Given the description of an element on the screen output the (x, y) to click on. 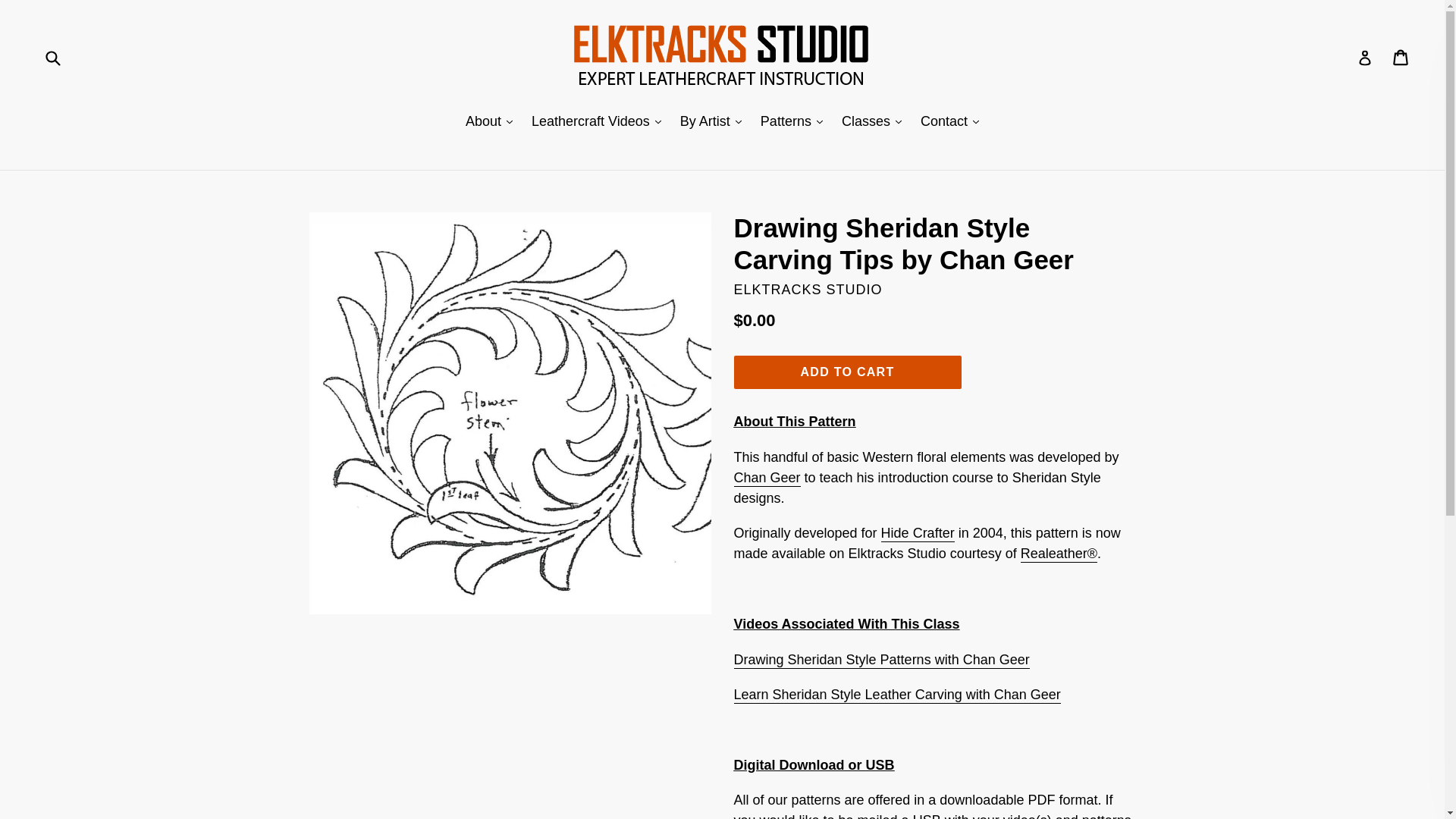
Hide Crafter (917, 533)
Learn Sheridan Style Carving (897, 695)
Chan Geer Leatherworker (766, 478)
